Given the description of an element on the screen output the (x, y) to click on. 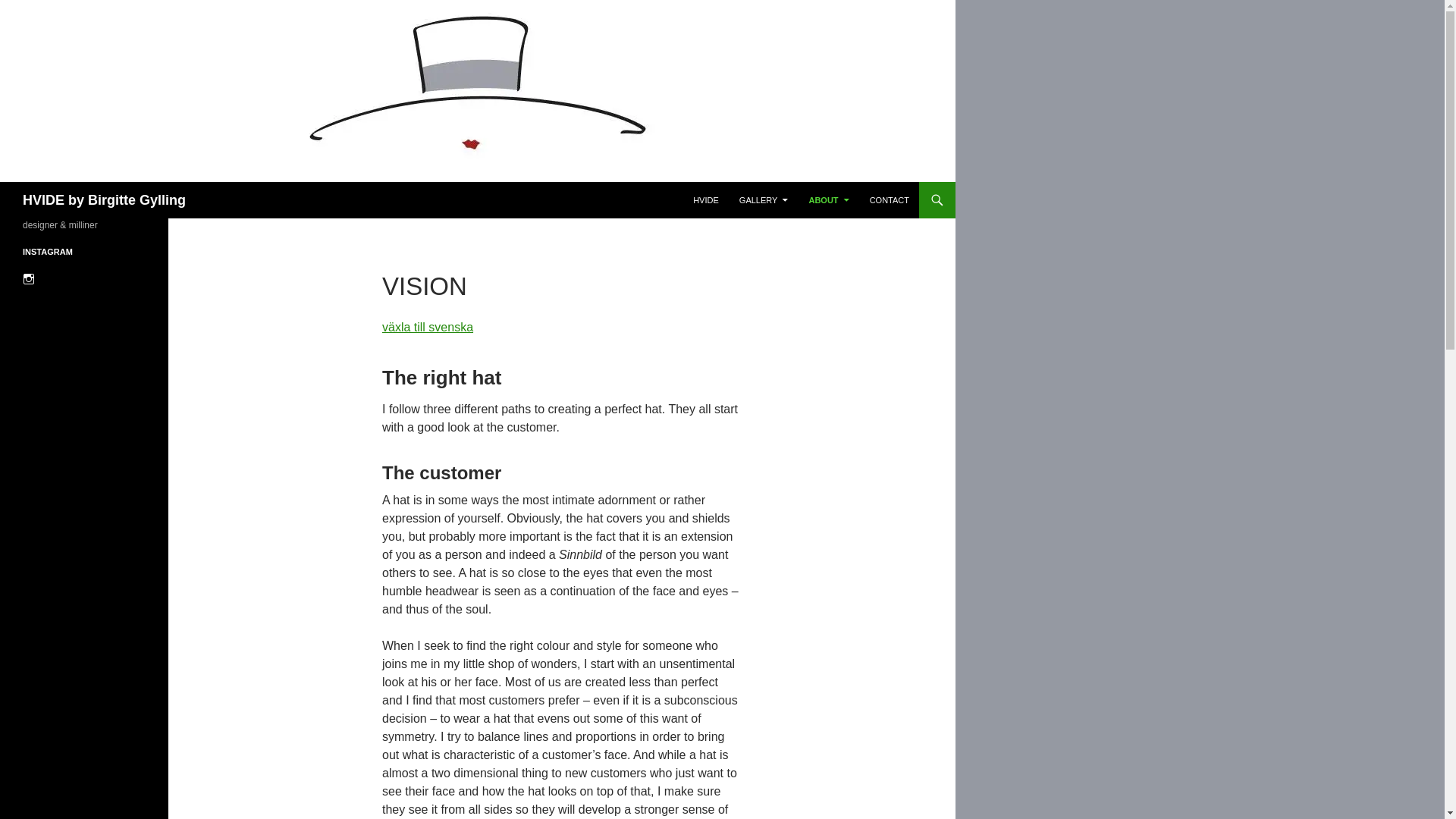
HVIDE (706, 199)
ABOUT (828, 199)
HVIDE by Birgitte Gylling (104, 199)
GALLERY (763, 199)
CONTACT (889, 199)
